Given the description of an element on the screen output the (x, y) to click on. 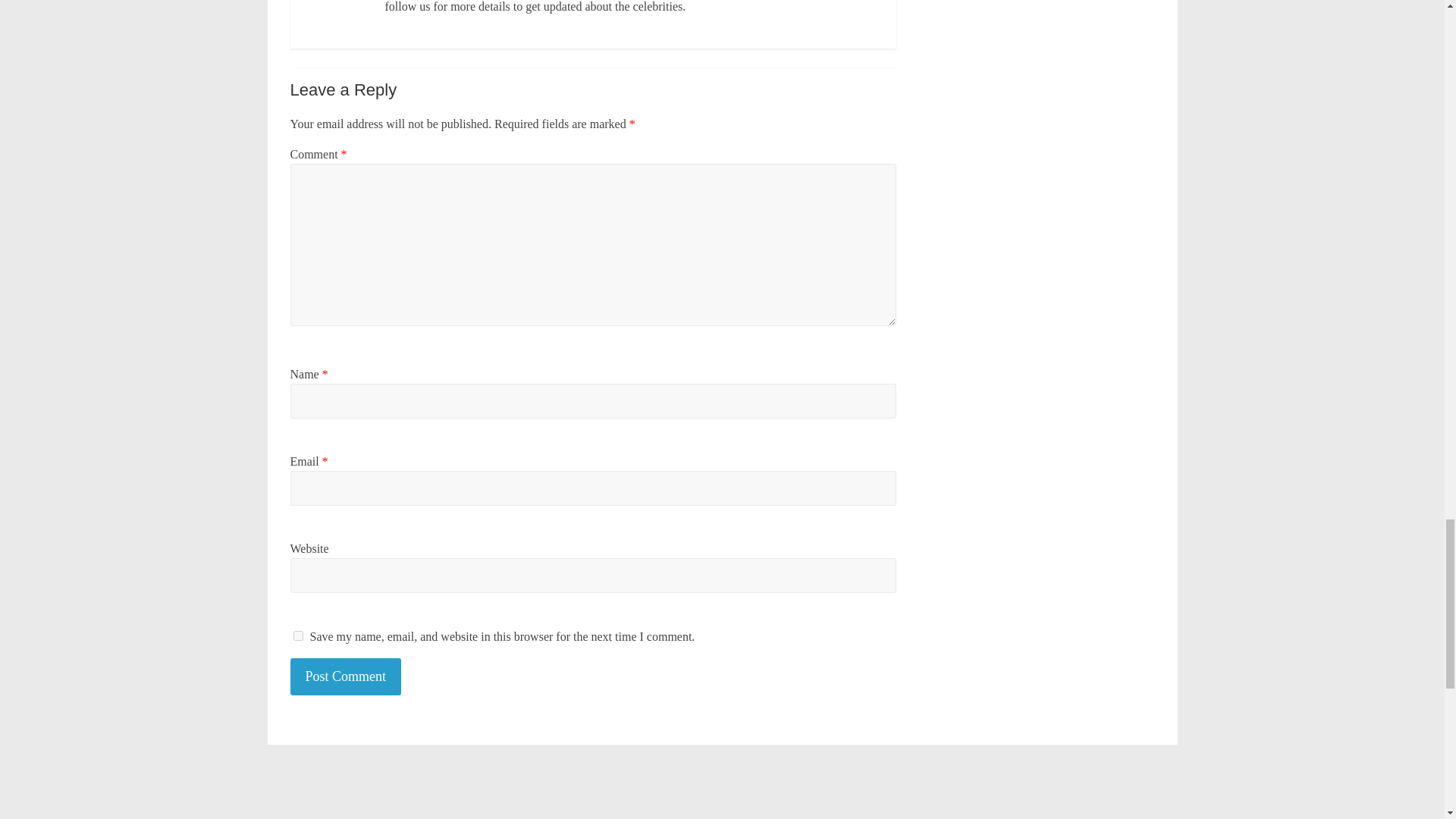
yes (297, 635)
Post Comment (345, 676)
Post Comment (345, 676)
